Given the description of an element on the screen output the (x, y) to click on. 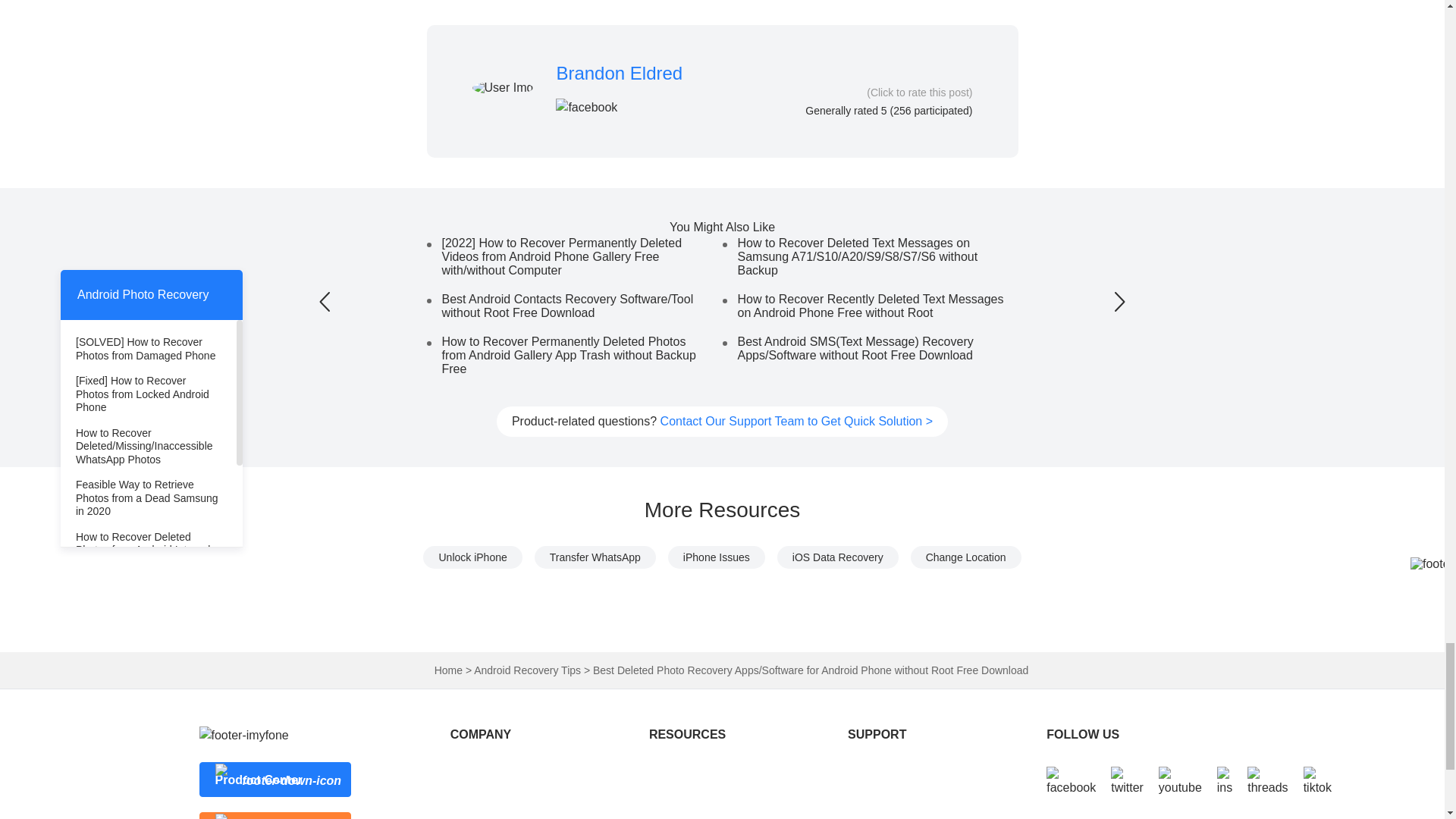
tiktok (1317, 781)
youtube (1180, 781)
facebook (1071, 781)
twitter (1126, 781)
threads (1267, 781)
